Given the description of an element on the screen output the (x, y) to click on. 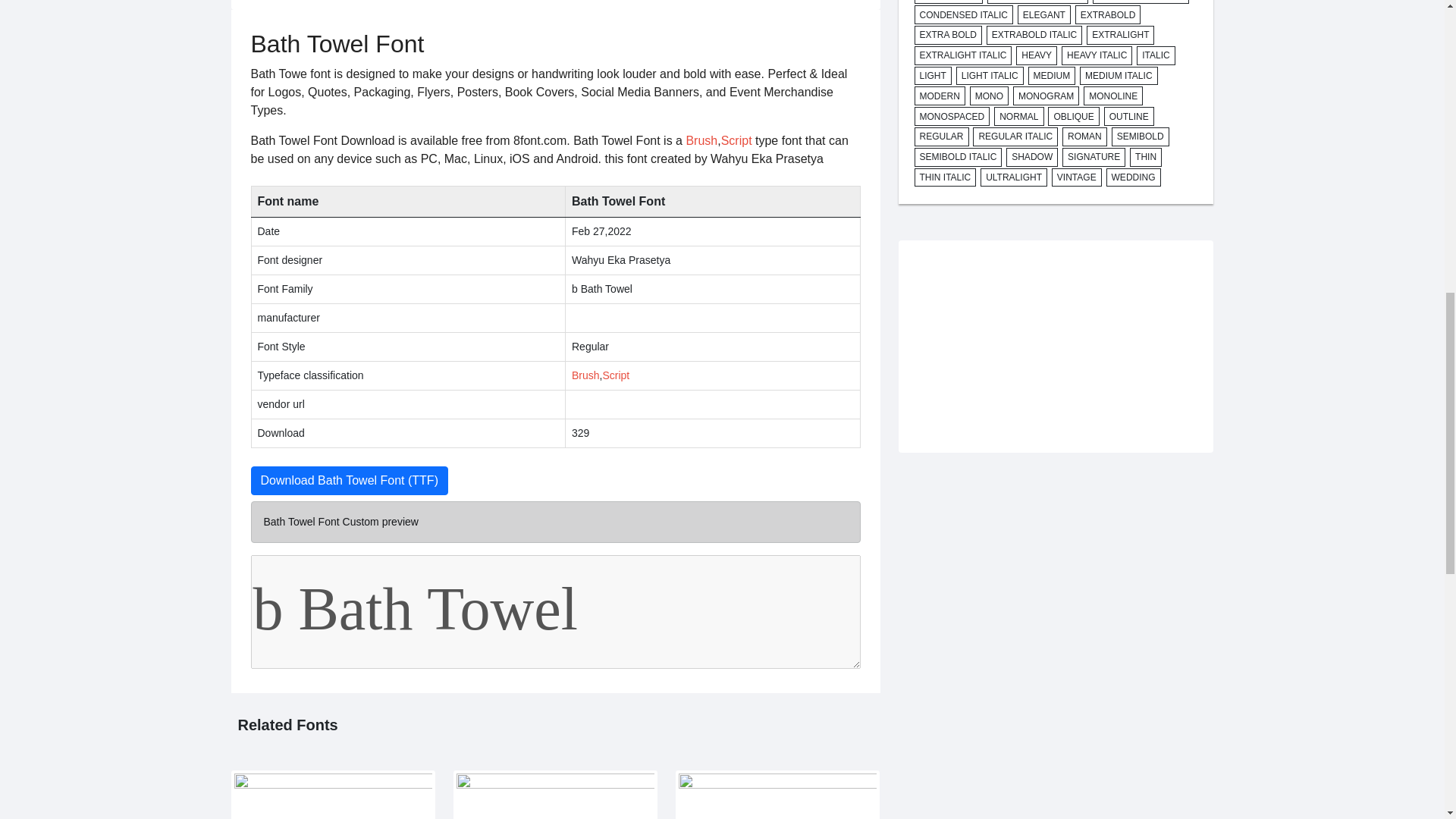
Brush (701, 140)
Blundell Font (777, 794)
Deolipa Shita Font (555, 794)
Script (736, 140)
Montagna Font (331, 794)
Brush (585, 375)
Script (615, 375)
